Given the description of an element on the screen output the (x, y) to click on. 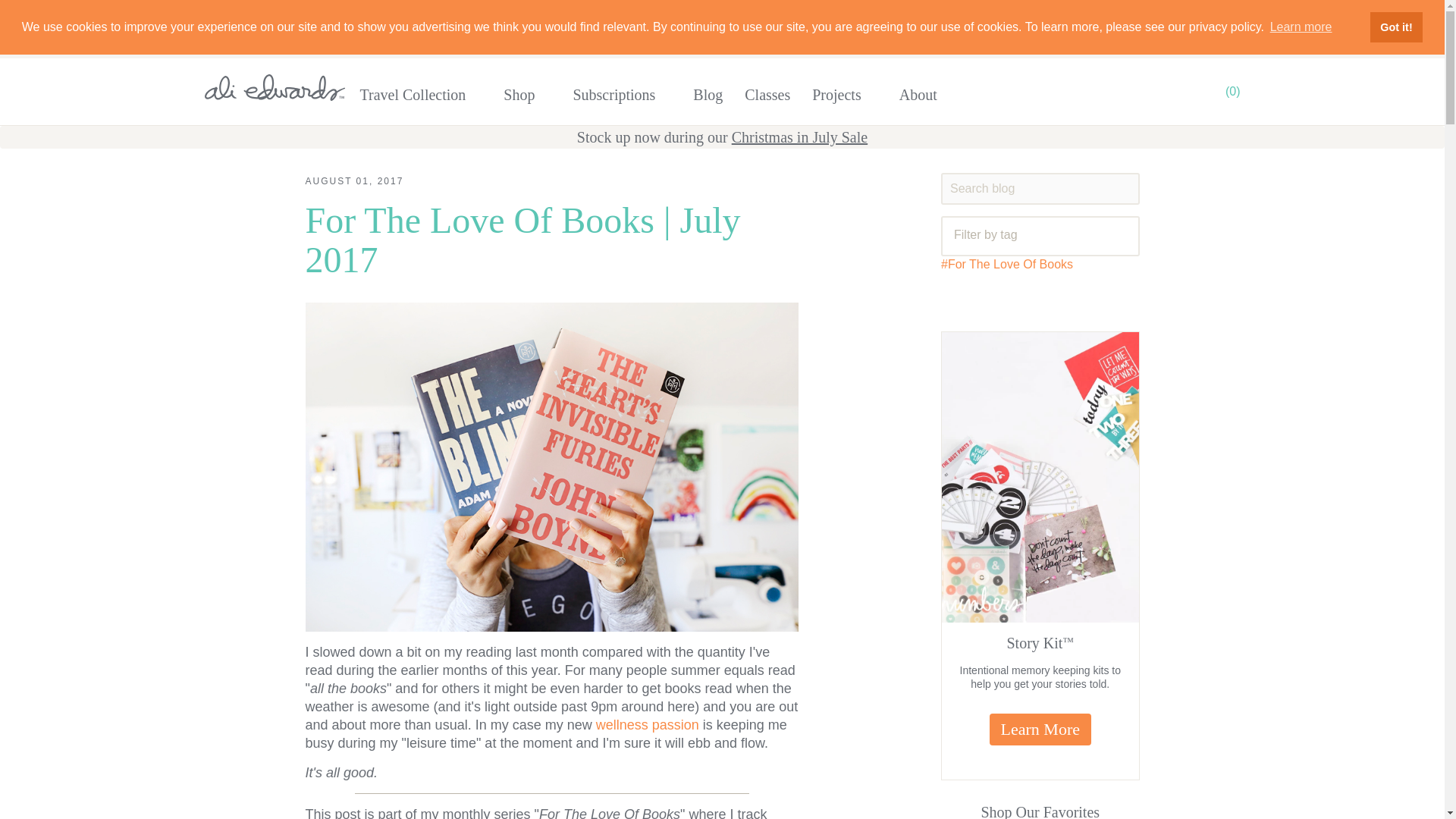
Find us on Pinterest (1040, 299)
Details (1175, 13)
PIECES OF US (377, 13)
Ali Edwards (275, 87)
Subscribe to our RSS feed (1115, 299)
SIGN IN (1215, 41)
Got it! (1396, 27)
Find us on Facebook (965, 299)
Find us on Instagram (1077, 299)
Learn more (1299, 26)
Find us on Twitter (1002, 299)
SIGN UP (1164, 41)
Travel Collection (421, 91)
